Given the description of an element on the screen output the (x, y) to click on. 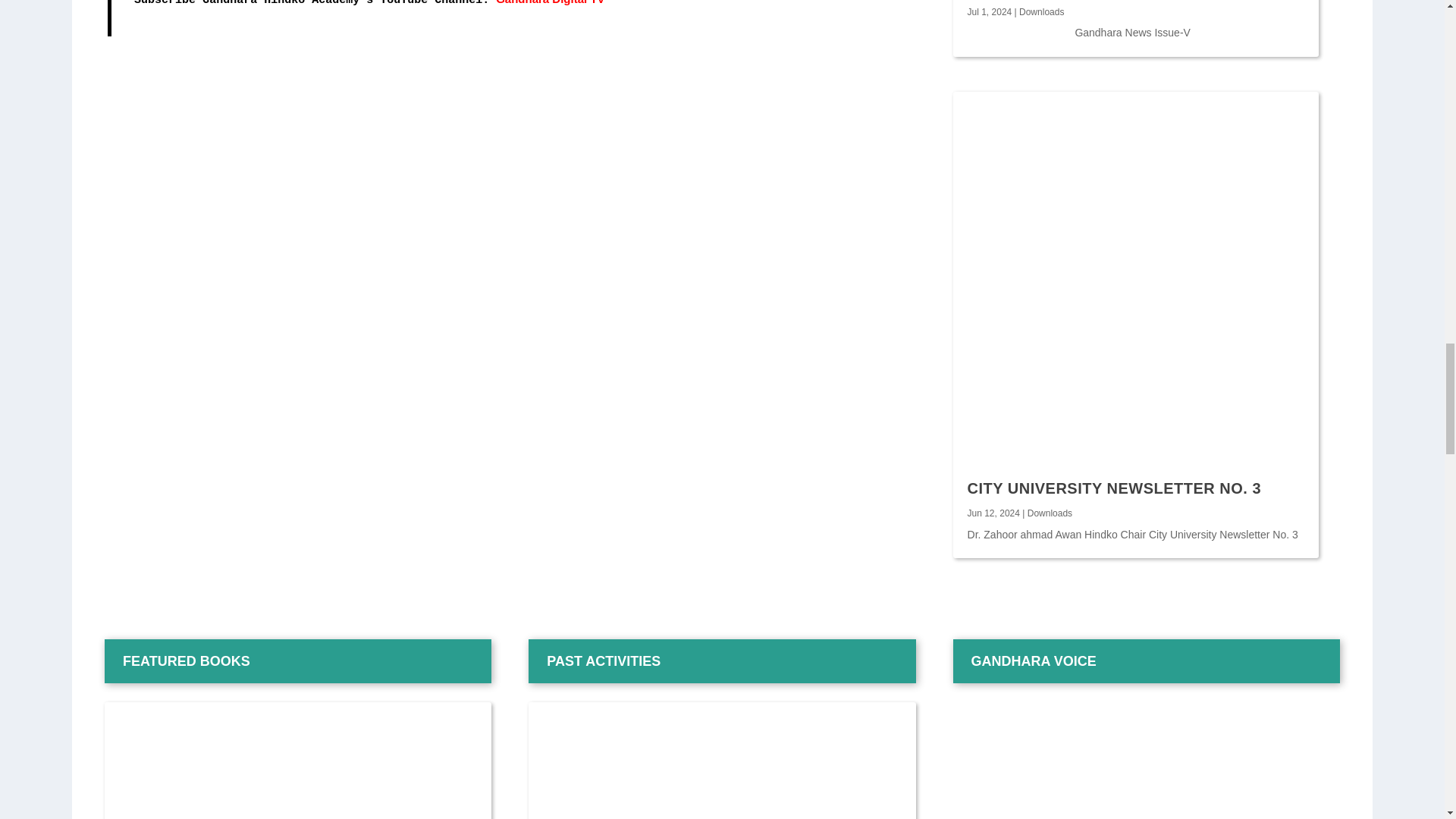
CITY UNIVERSITY NEWSLETTER NO. 3 (1115, 487)
Gandhara Digital TV (550, 2)
Downloads (1041, 11)
Downloads (1049, 512)
